Given the description of an element on the screen output the (x, y) to click on. 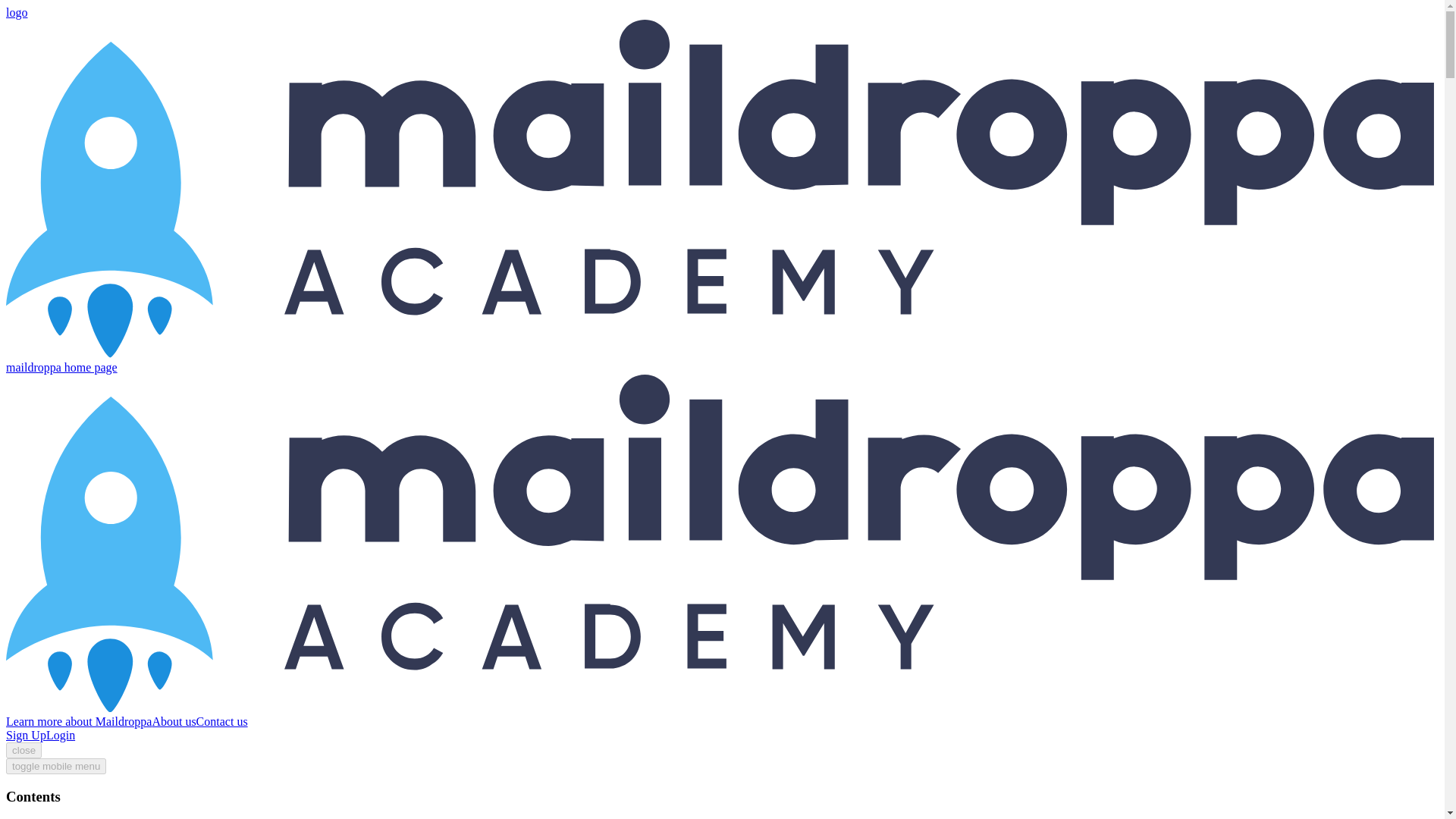
About us (173, 721)
Login (60, 735)
close (23, 750)
Contact us (221, 721)
toggle mobile menu (55, 765)
Learn more about Maildroppa (78, 721)
Sign Up (25, 735)
